Given the description of an element on the screen output the (x, y) to click on. 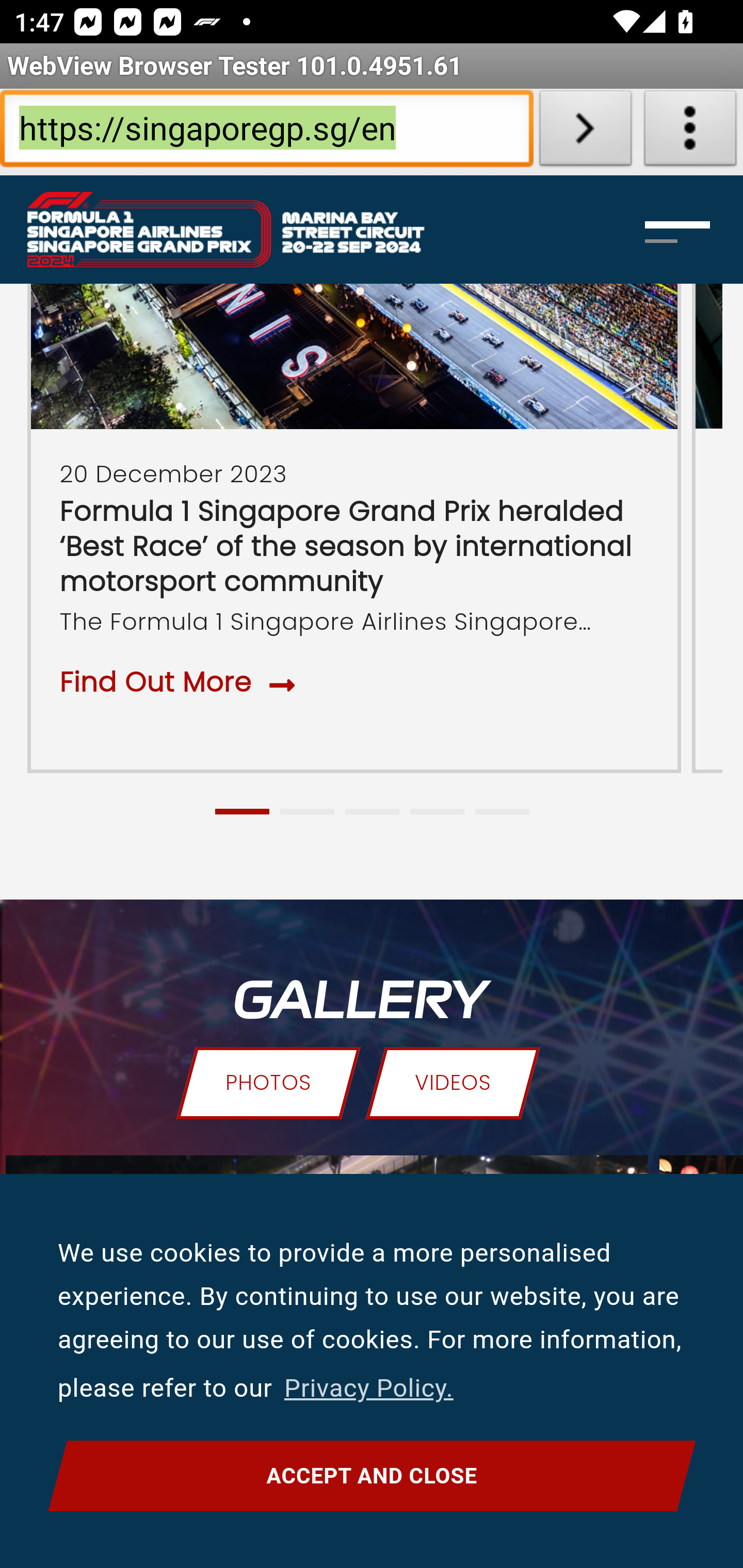
https://singaporegp.sg/en (266, 132)
Load URL (585, 132)
About WebView (690, 132)
Singapore Grand Prix Logo (247, 230)
PHOTOS (267, 1084)
VIDEOS (452, 1084)
learn more about cookies (368, 1389)
dismiss cookie message (371, 1476)
